Given the description of an element on the screen output the (x, y) to click on. 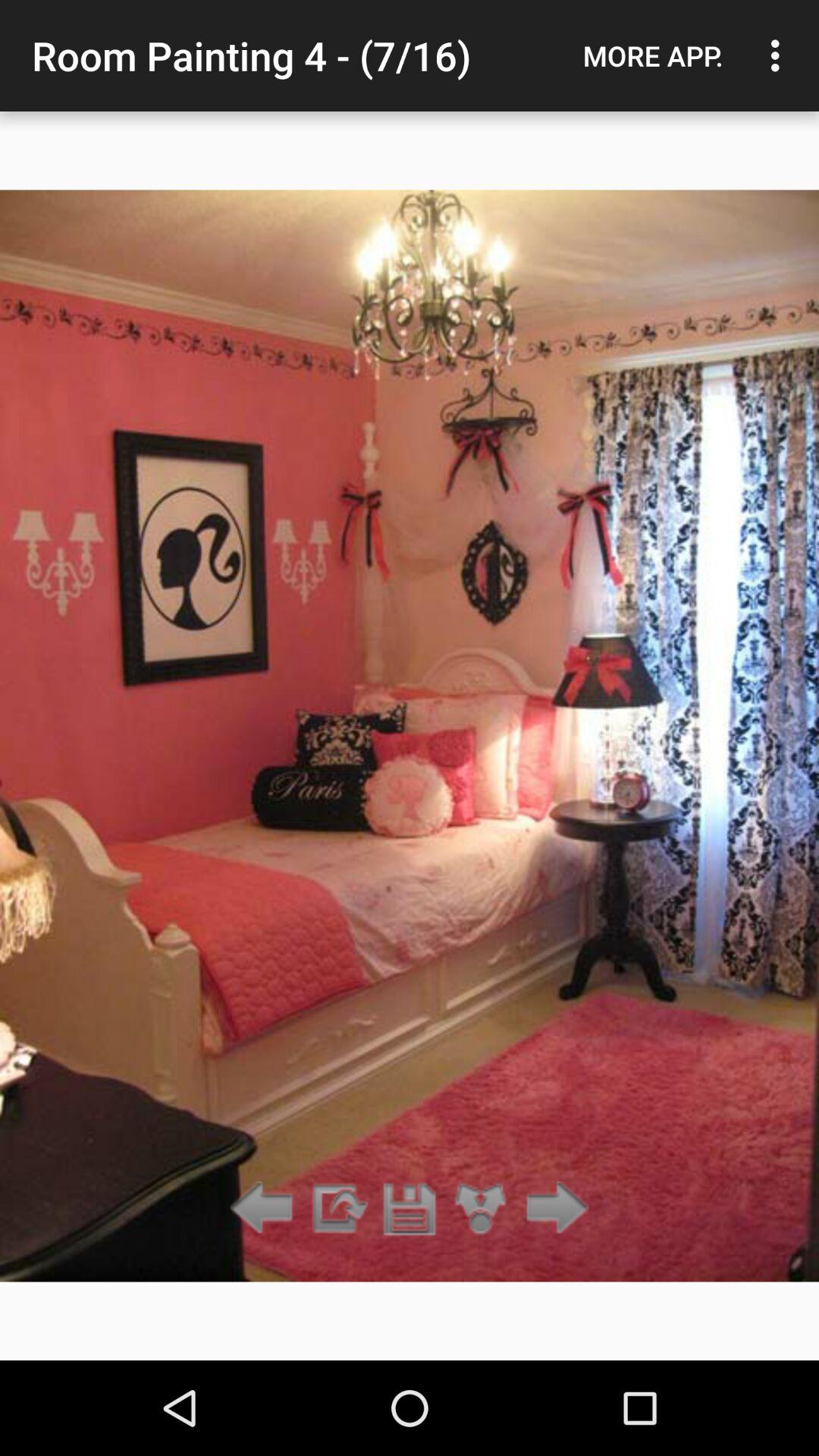
press camera pan icon (480, 1208)
